Given the description of an element on the screen output the (x, y) to click on. 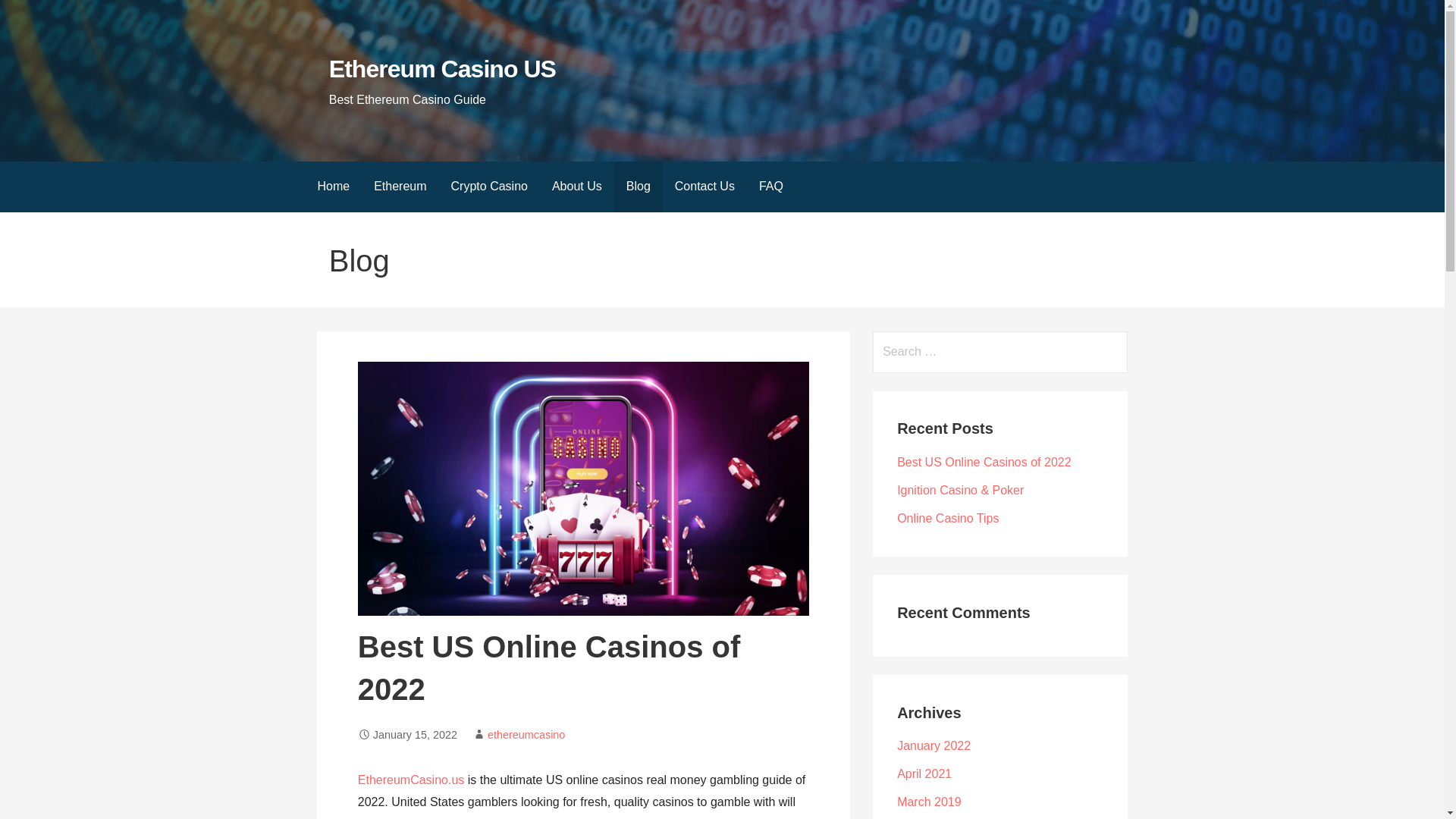
Search (31, 15)
March 2019 (928, 801)
Ethereum (399, 186)
Posts by ethereumcasino (525, 734)
Blog (638, 186)
EthereumCasino.us (411, 779)
January 2022 (933, 745)
ethereumcasino (525, 734)
Online Casino Tips (947, 517)
Home (332, 186)
